Given the description of an element on the screen output the (x, y) to click on. 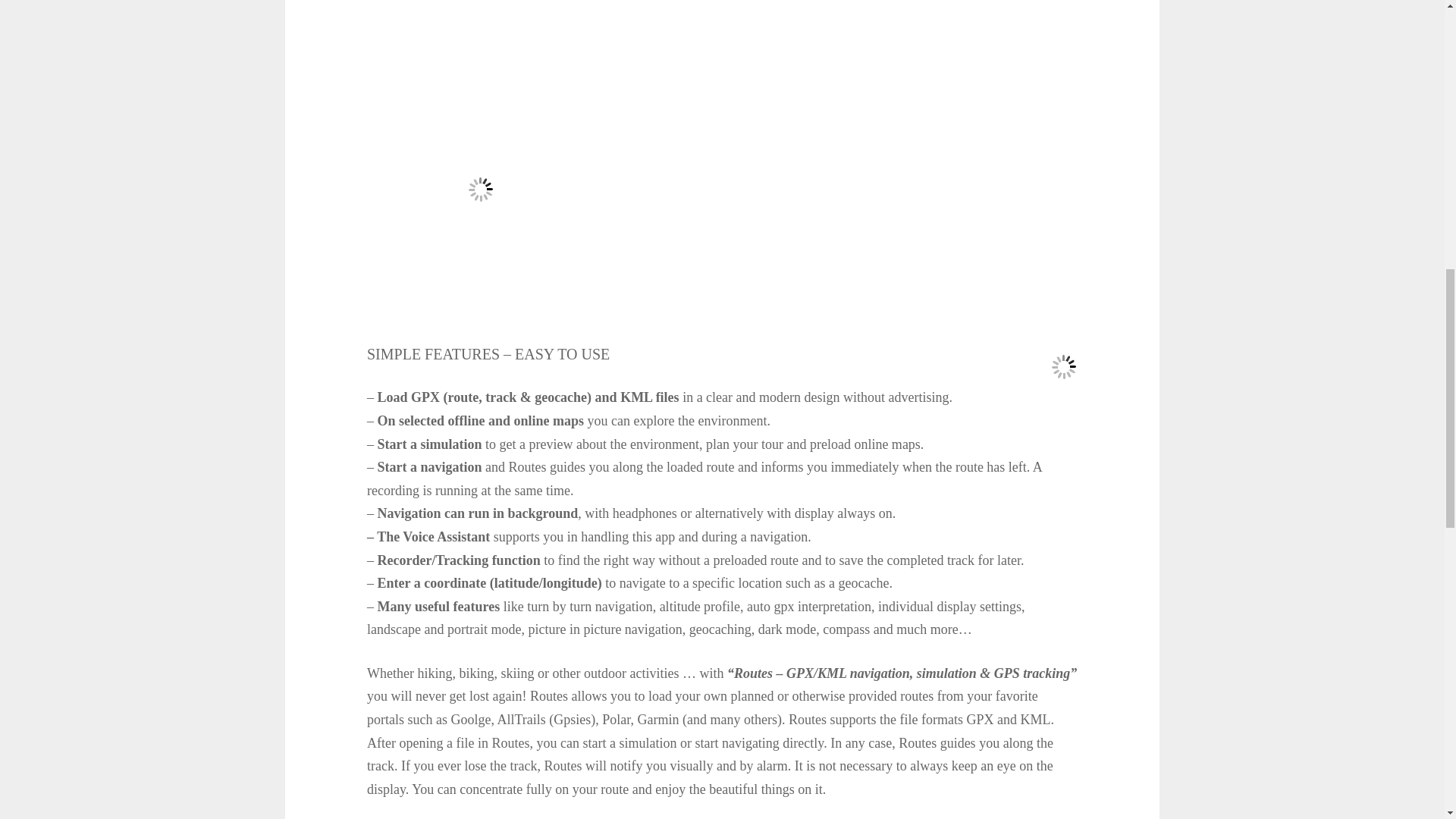
Screenshot 1614598940 (986, 790)
Screenshot 1614598967 (809, 790)
Translate to your language... (1063, 366)
Screenshot 1614598180 (633, 790)
